Given the description of an element on the screen output the (x, y) to click on. 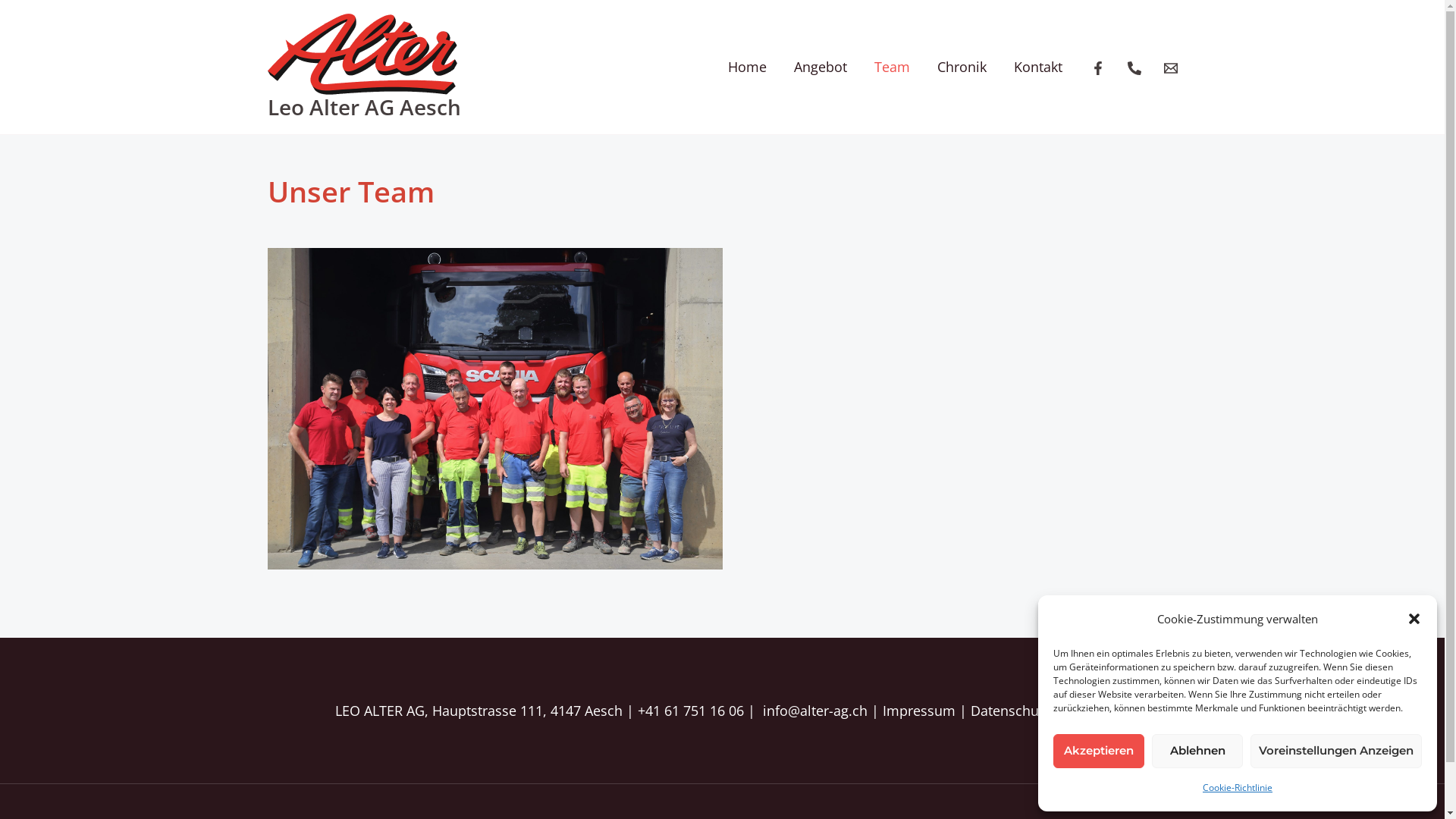
+41 61 751 16 06 Element type: text (690, 710)
Chronik Element type: text (961, 66)
Kontakt Element type: text (1037, 66)
info@alter-ag.ch Element type: text (814, 710)
Akzeptieren Element type: text (1098, 751)
Ablehnen Element type: text (1196, 751)
Cookie-Richtlinie Element type: text (1237, 787)
Angebot Element type: text (819, 66)
Home Element type: text (747, 66)
Leo Alter AG Aesch Element type: text (363, 106)
Voreinstellungen Anzeigen Element type: text (1335, 751)
Team Element type: text (890, 66)
Impressum Element type: text (918, 710)
